Given the description of an element on the screen output the (x, y) to click on. 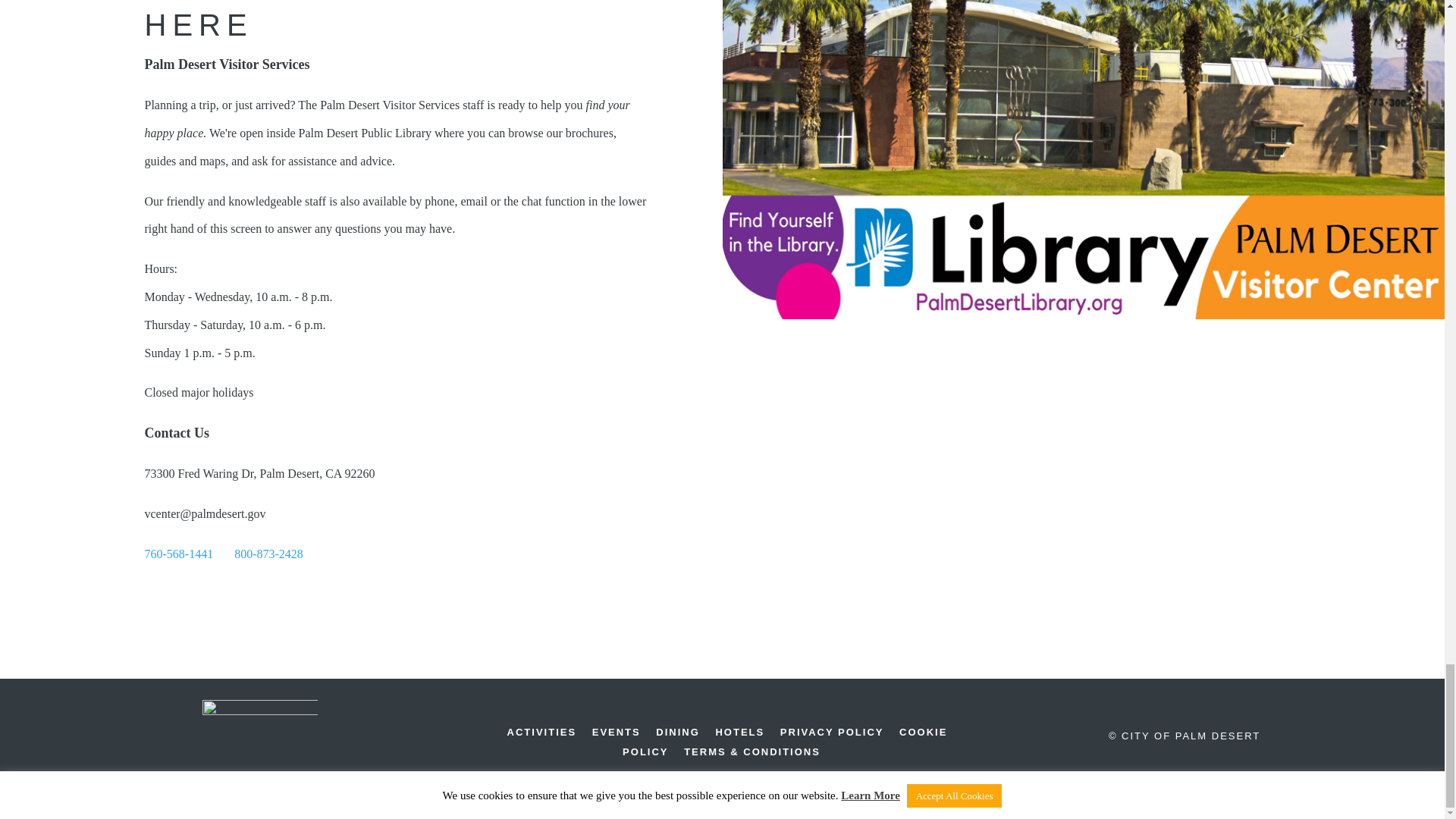
Follow on Facebook (160, 602)
Follow on X (198, 602)
Follow on Instagram (235, 602)
